Given the description of an element on the screen output the (x, y) to click on. 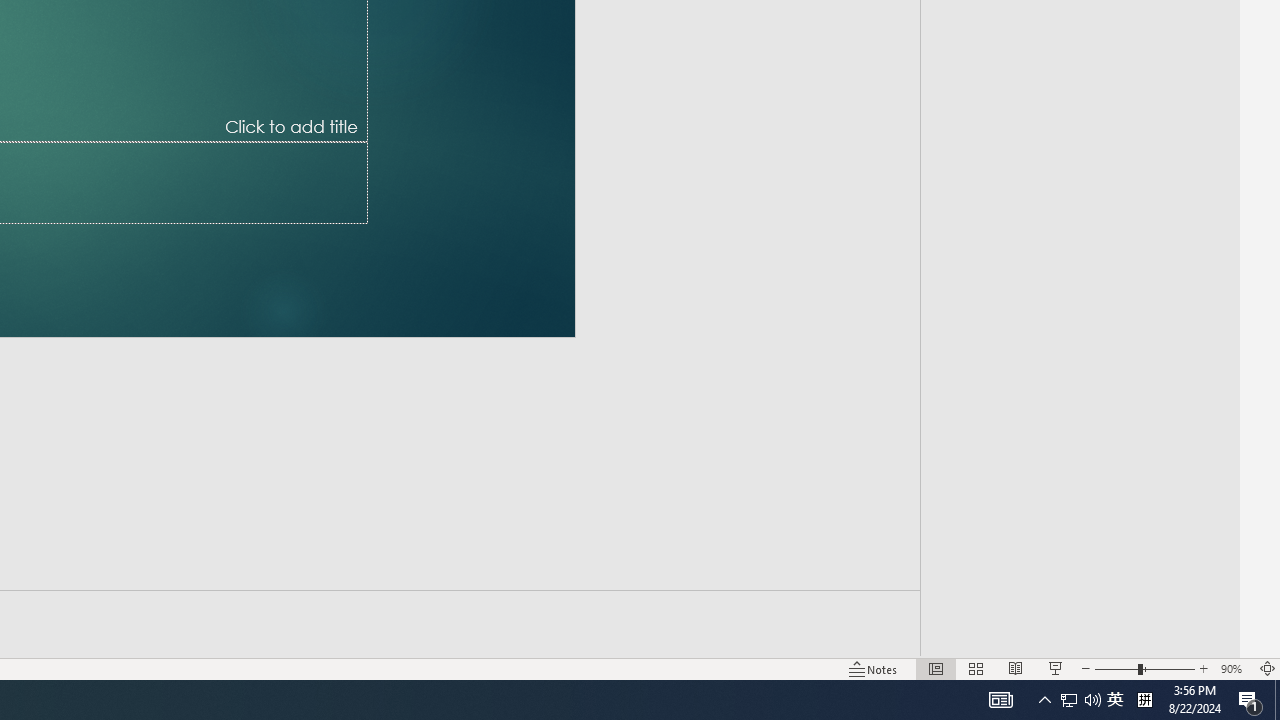
Zoom 90% (1234, 668)
